Given the description of an element on the screen output the (x, y) to click on. 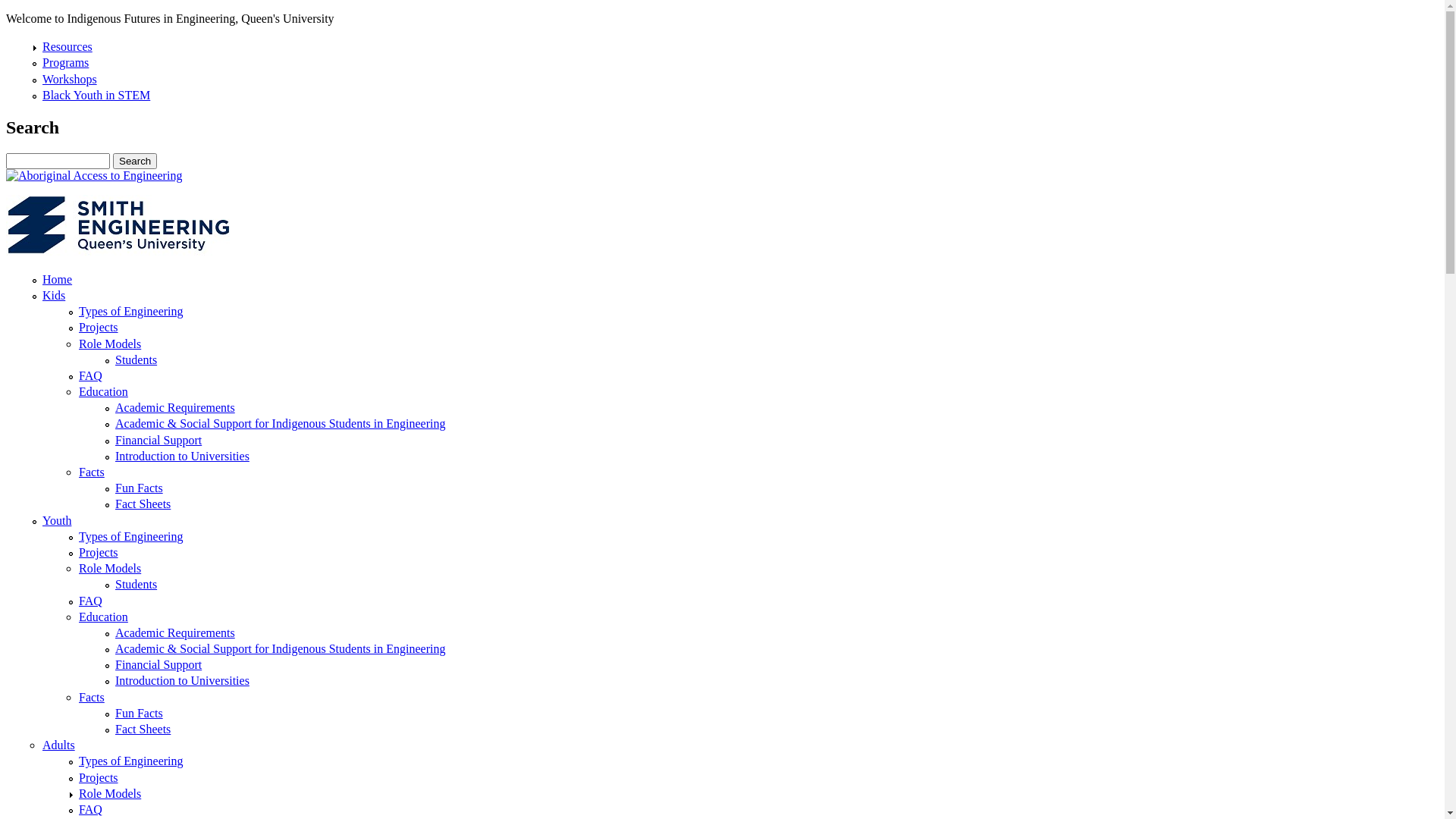
Home Element type: text (57, 279)
Academic Requirements Element type: text (175, 407)
Fun Facts Element type: text (139, 712)
Education Element type: text (103, 616)
Adults Element type: text (58, 744)
Programs Element type: text (65, 62)
Projects Element type: text (98, 777)
Fun Facts Element type: text (139, 487)
Students Element type: text (135, 583)
Workshops Element type: text (69, 78)
Students Element type: text (135, 359)
Kids Element type: text (53, 294)
Resources Element type: text (67, 46)
FAQ Element type: text (90, 375)
Academic Requirements Element type: text (175, 632)
Aboriginal Access to Engineering Element type: hover (94, 175)
Introduction to Universities Element type: text (182, 455)
Enter the terms you wish to search for. Element type: hover (57, 161)
Fact Sheets Element type: text (142, 503)
Projects Element type: text (98, 552)
Role Models Element type: text (109, 793)
Financial Support Element type: text (158, 439)
Introduction to Universities Element type: text (182, 680)
Role Models Element type: text (109, 567)
Youth Element type: text (56, 520)
Black Youth in STEM Element type: text (96, 94)
FAQ Element type: text (90, 600)
Projects Element type: text (98, 326)
Types of Engineering Element type: text (130, 310)
Education Element type: text (103, 391)
Fact Sheets Element type: text (142, 728)
Role Models Element type: text (109, 342)
FAQ Element type: text (90, 809)
Facts Element type: text (91, 696)
Facts Element type: text (91, 471)
Types of Engineering Element type: text (130, 760)
Types of Engineering Element type: text (130, 536)
Search Element type: text (134, 161)
Financial Support Element type: text (158, 664)
